Given the description of an element on the screen output the (x, y) to click on. 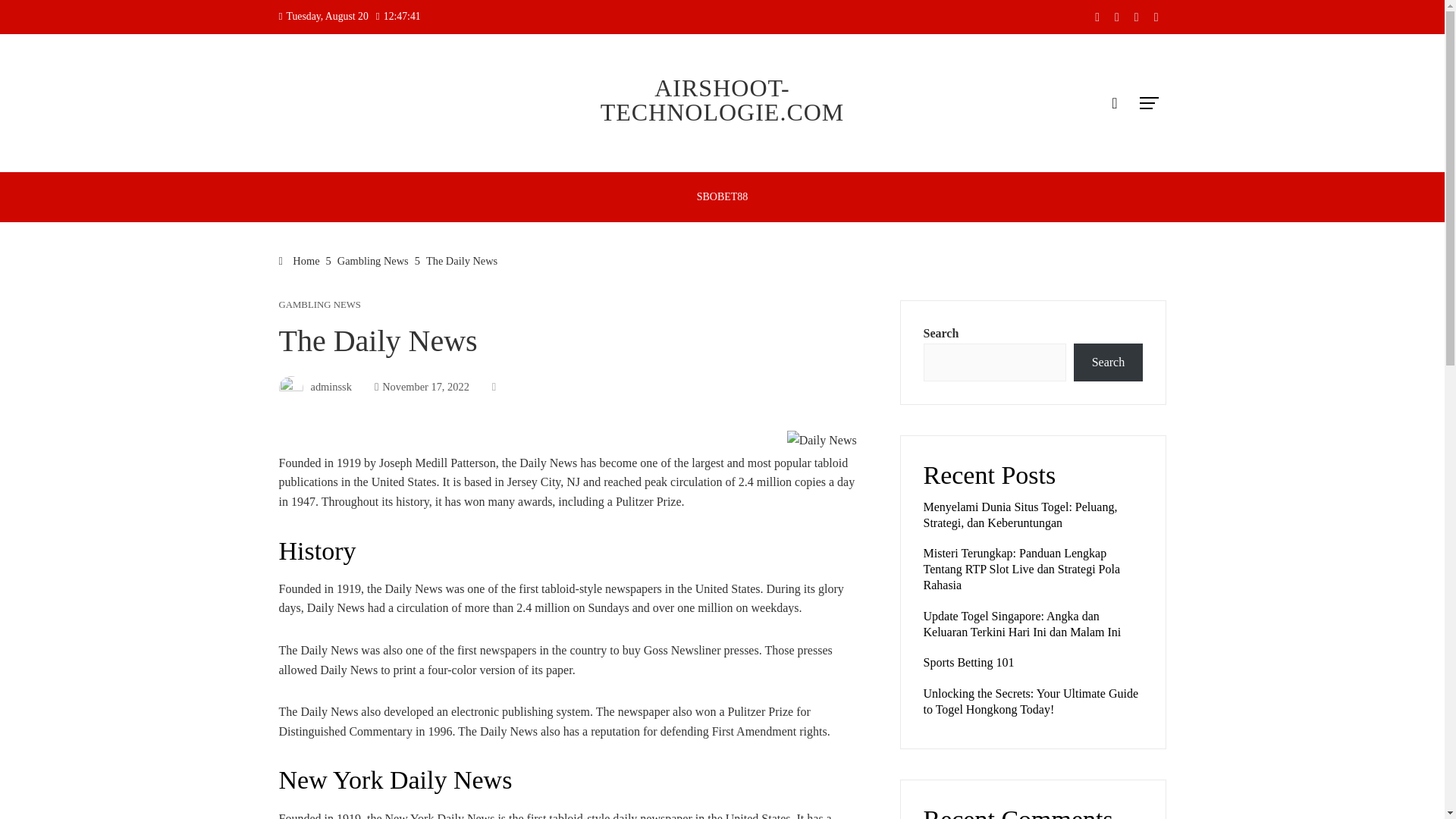
Gambling News (373, 260)
Home (299, 260)
GAMBLING NEWS (320, 305)
AIRSHOOT-TECHNOLOGIE.COM (721, 100)
Sports Betting 101 (968, 662)
Search (1107, 362)
SBOBET88 (722, 196)
